Given the description of an element on the screen output the (x, y) to click on. 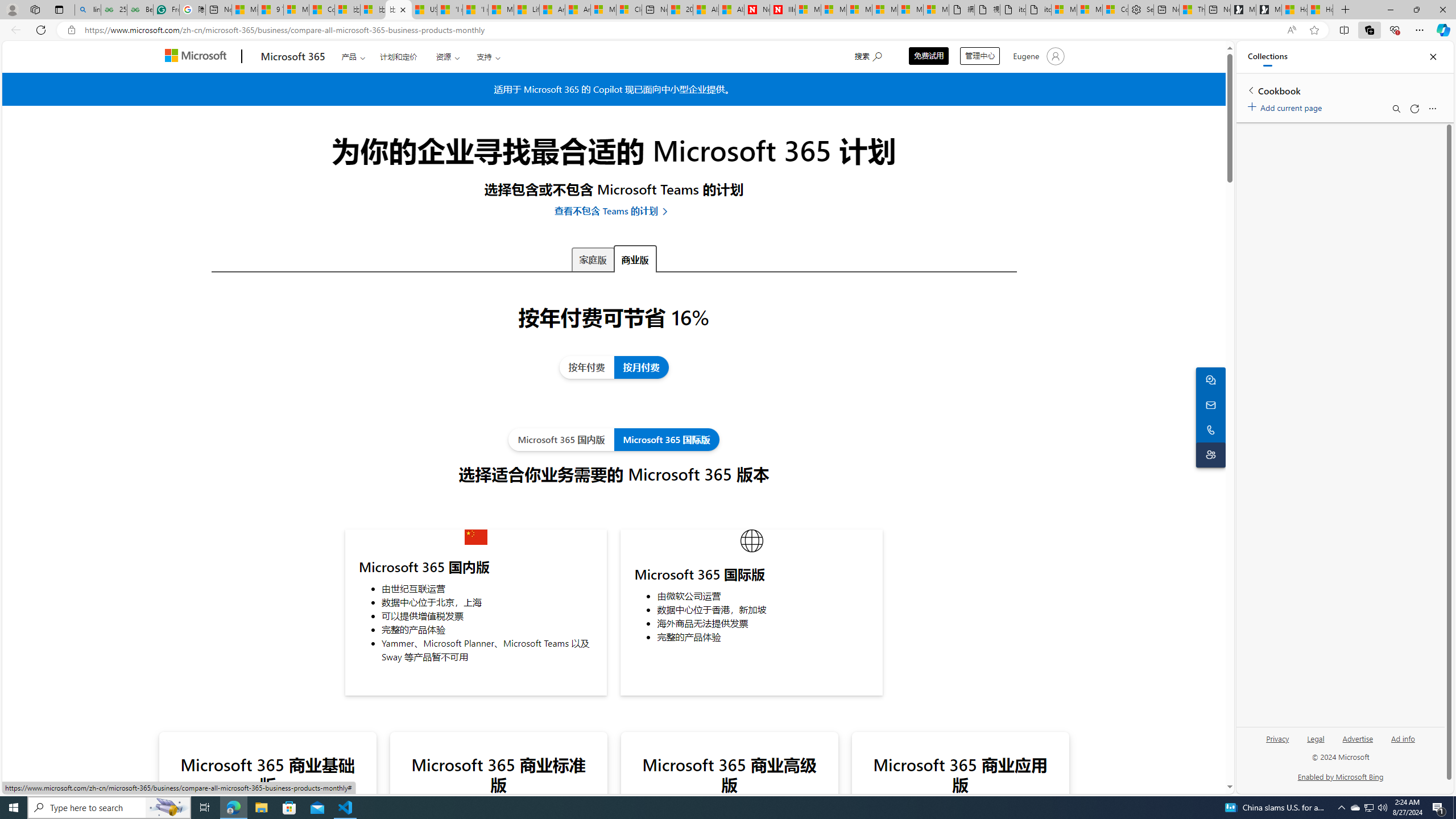
Cloud Computing Services | Microsoft Azure (628, 9)
25 Basic Linux Commands For Beginners - GeeksforGeeks (114, 9)
Best SSL Certificates Provider in India - GeeksforGeeks (140, 9)
Newsweek - News, Analysis, Politics, Business, Technology (756, 9)
More options menu (1432, 108)
